Given the description of an element on the screen output the (x, y) to click on. 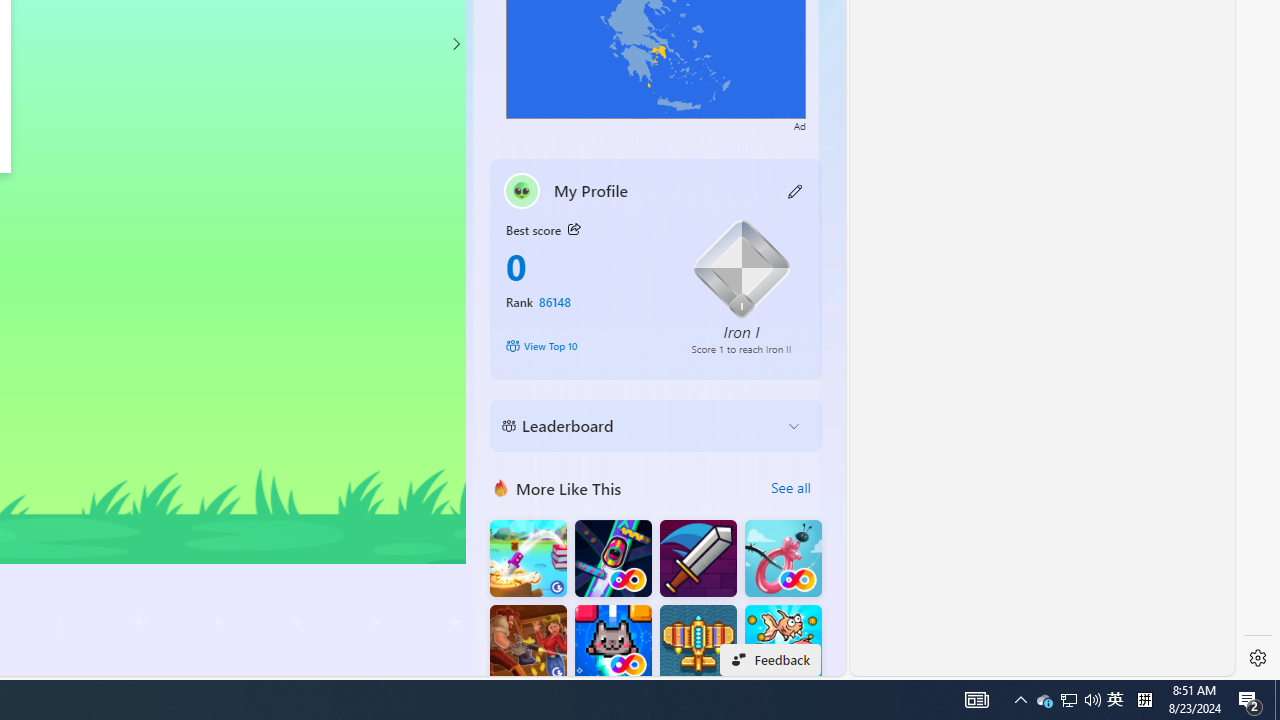
Settings (1258, 658)
Atlantic Sky Hunter (698, 643)
Class: control (455, 43)
More Like This (501, 487)
Bumper Car FRVR (612, 558)
See all (790, 487)
See all (790, 487)
Saloon Robbery (528, 643)
Ad (799, 124)
Class: button edit-icon (795, 190)
Feedback (769, 659)
Fish Merge FRVR (783, 643)
View Top 10 (584, 345)
Kitten Force FRVR (612, 643)
Balloon FRVR (783, 558)
